Given the description of an element on the screen output the (x, y) to click on. 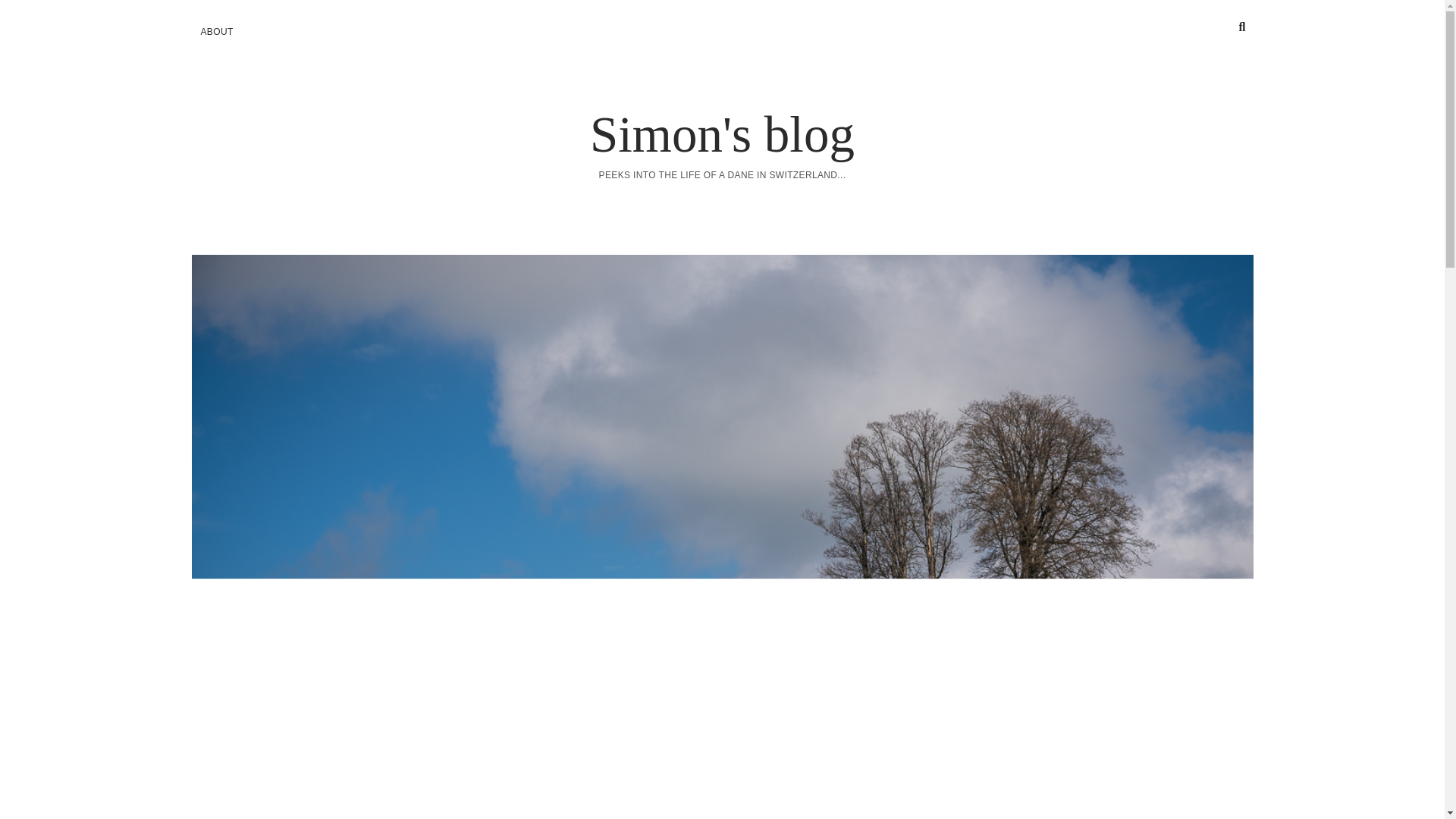
ABOUT (215, 31)
Simon's blog (721, 134)
